Given the description of an element on the screen output the (x, y) to click on. 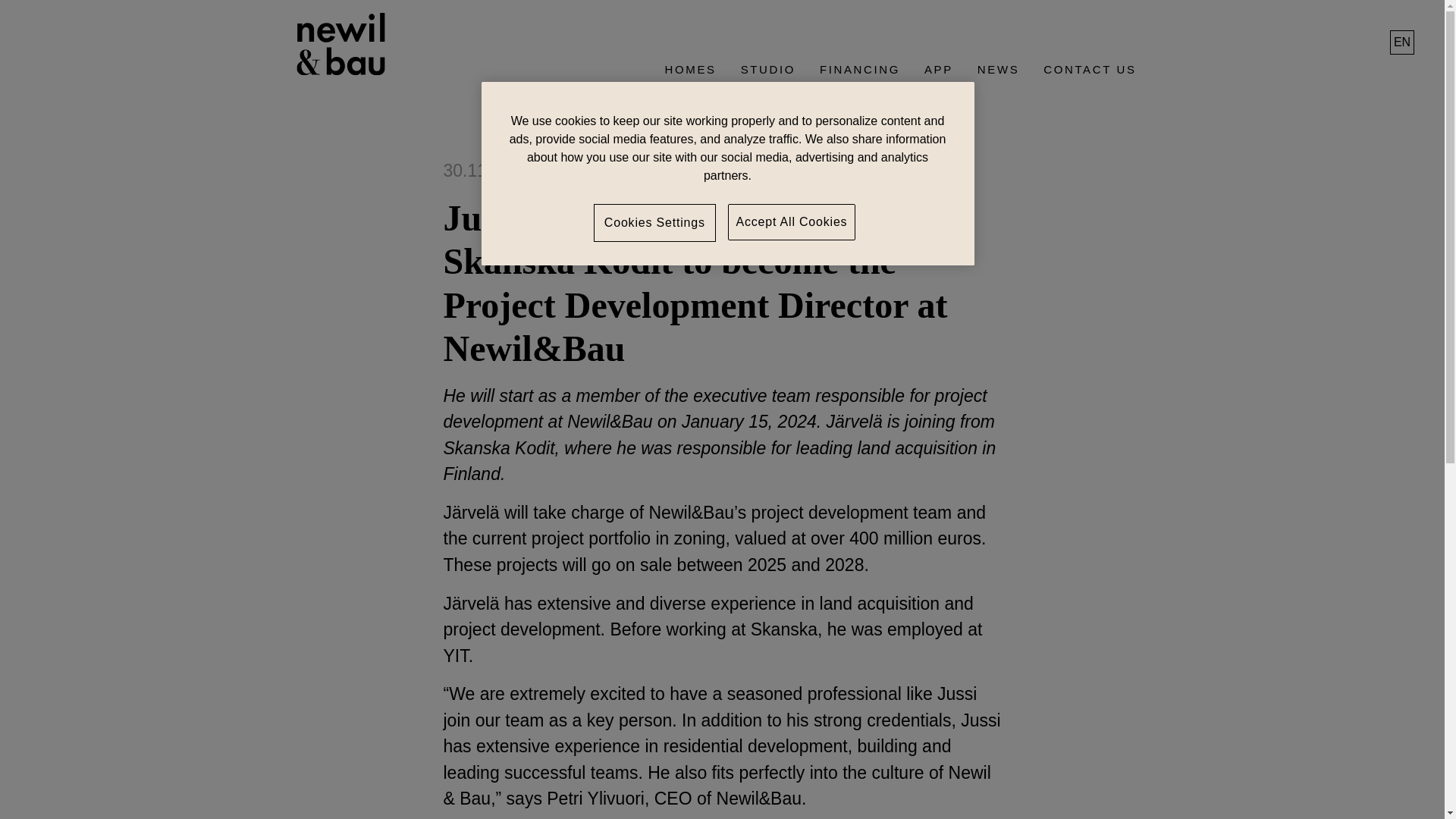
STUDIO (768, 77)
APP (938, 77)
FINANCING (860, 77)
EN (1401, 42)
NEWS (997, 77)
Accept All Cookies (792, 221)
HOMES (690, 77)
CONTACT US (1089, 77)
Cookies Settings (654, 222)
